Given the description of an element on the screen output the (x, y) to click on. 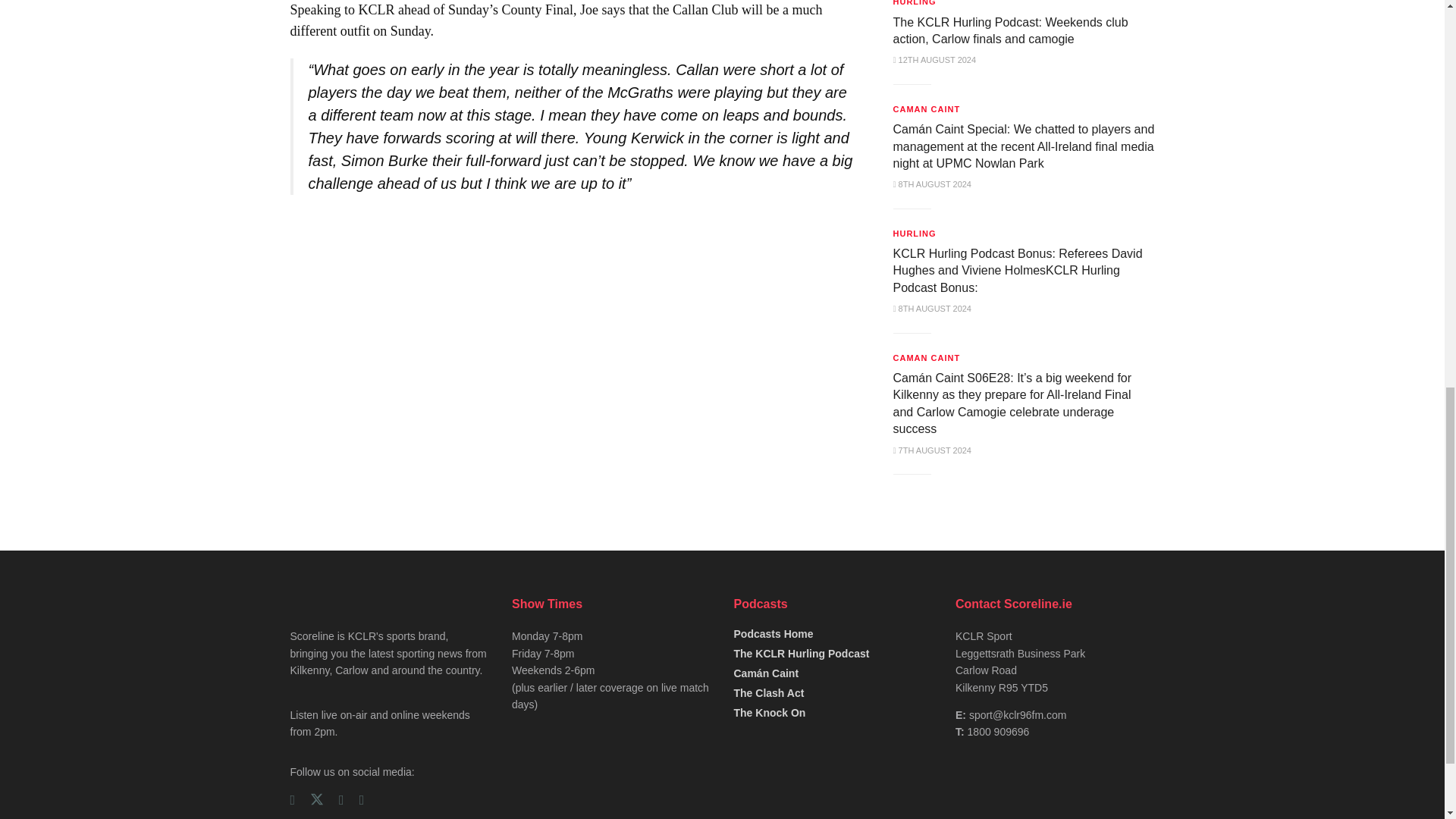
8TH AUGUST 2024 (932, 184)
12TH AUGUST 2024 (934, 59)
HURLING (914, 4)
CAMAN CAINT (926, 108)
